Given the description of an element on the screen output the (x, y) to click on. 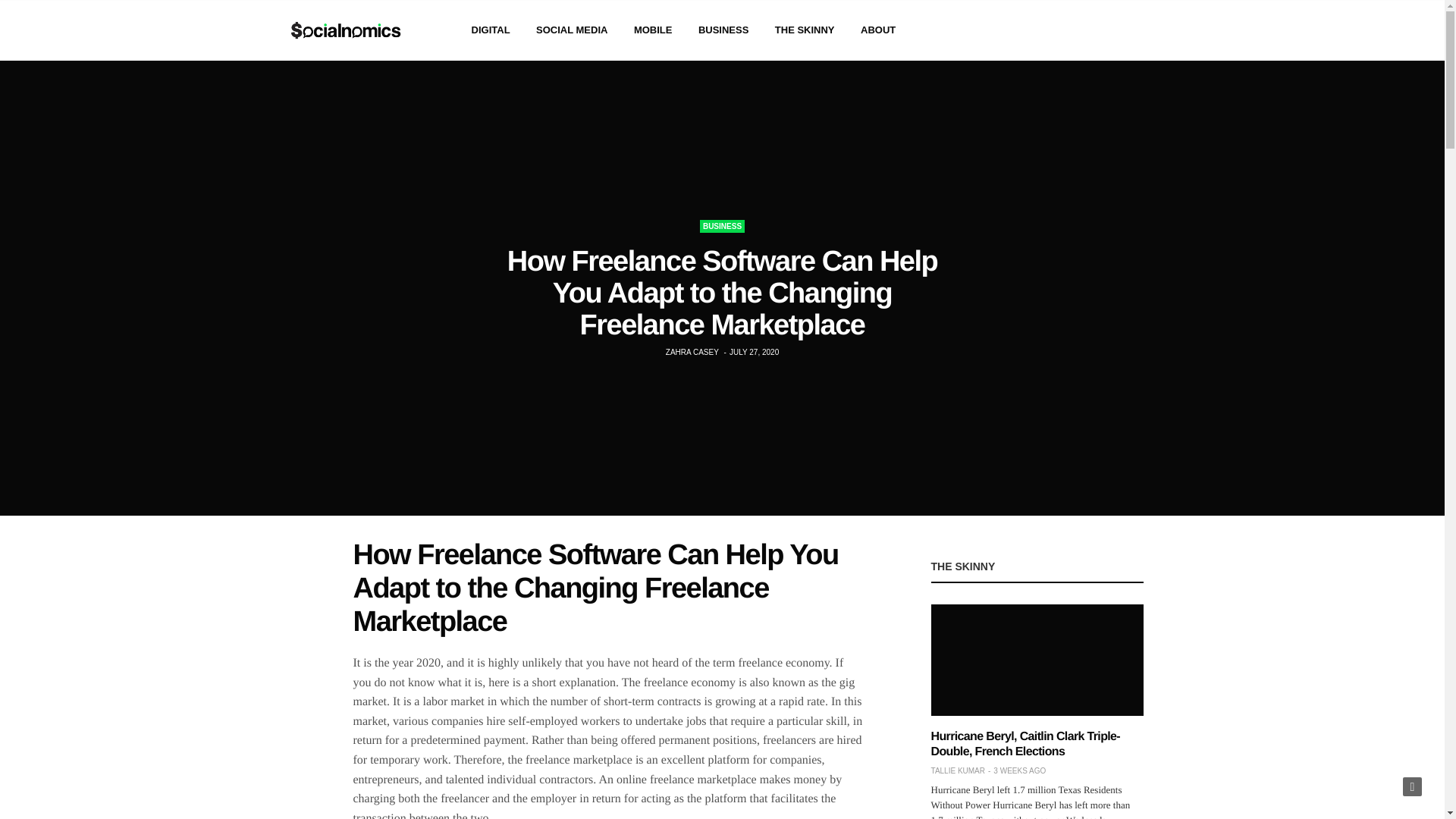
DIGITAL (491, 30)
